Given the description of an element on the screen output the (x, y) to click on. 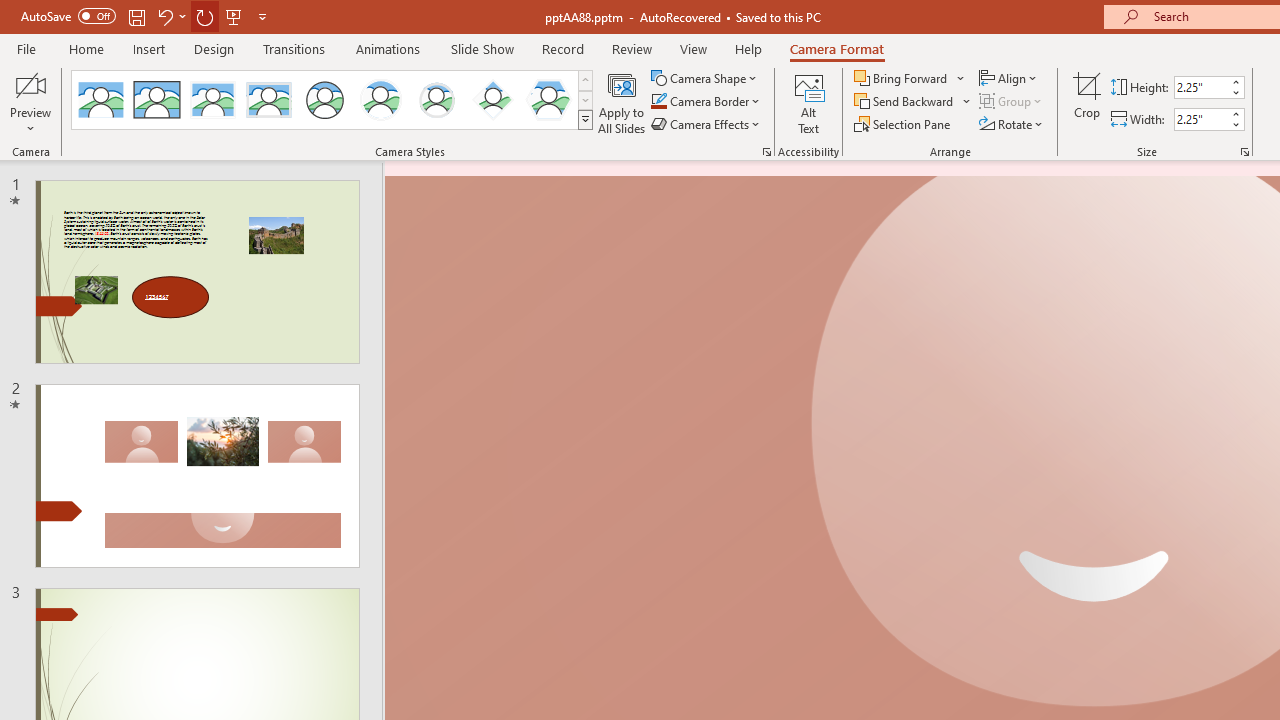
Center Shadow Hexagon (548, 100)
Size and Position... (1244, 151)
Camera Border Teal, Accent 1 (658, 101)
Crop (1087, 102)
Simple Frame Circle (324, 100)
Center Shadow Circle (381, 100)
Cameo Width (1201, 119)
